Given the description of an element on the screen output the (x, y) to click on. 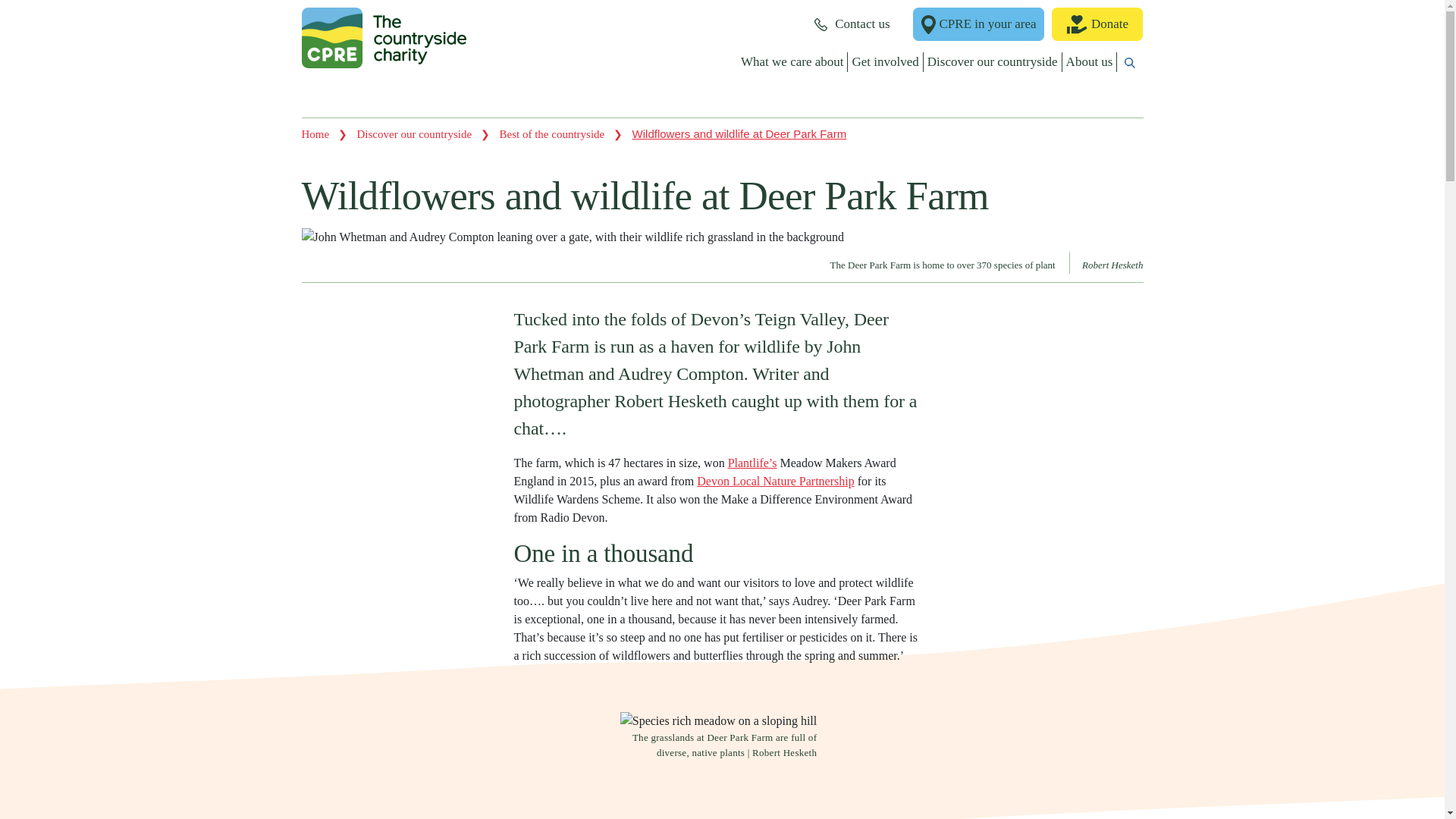
Contact us (851, 23)
Donate (1096, 23)
What we care about (791, 62)
Discover our countryside (992, 62)
Get involved (885, 62)
CPRE in your area (978, 23)
About us (1090, 62)
